Given the description of an element on the screen output the (x, y) to click on. 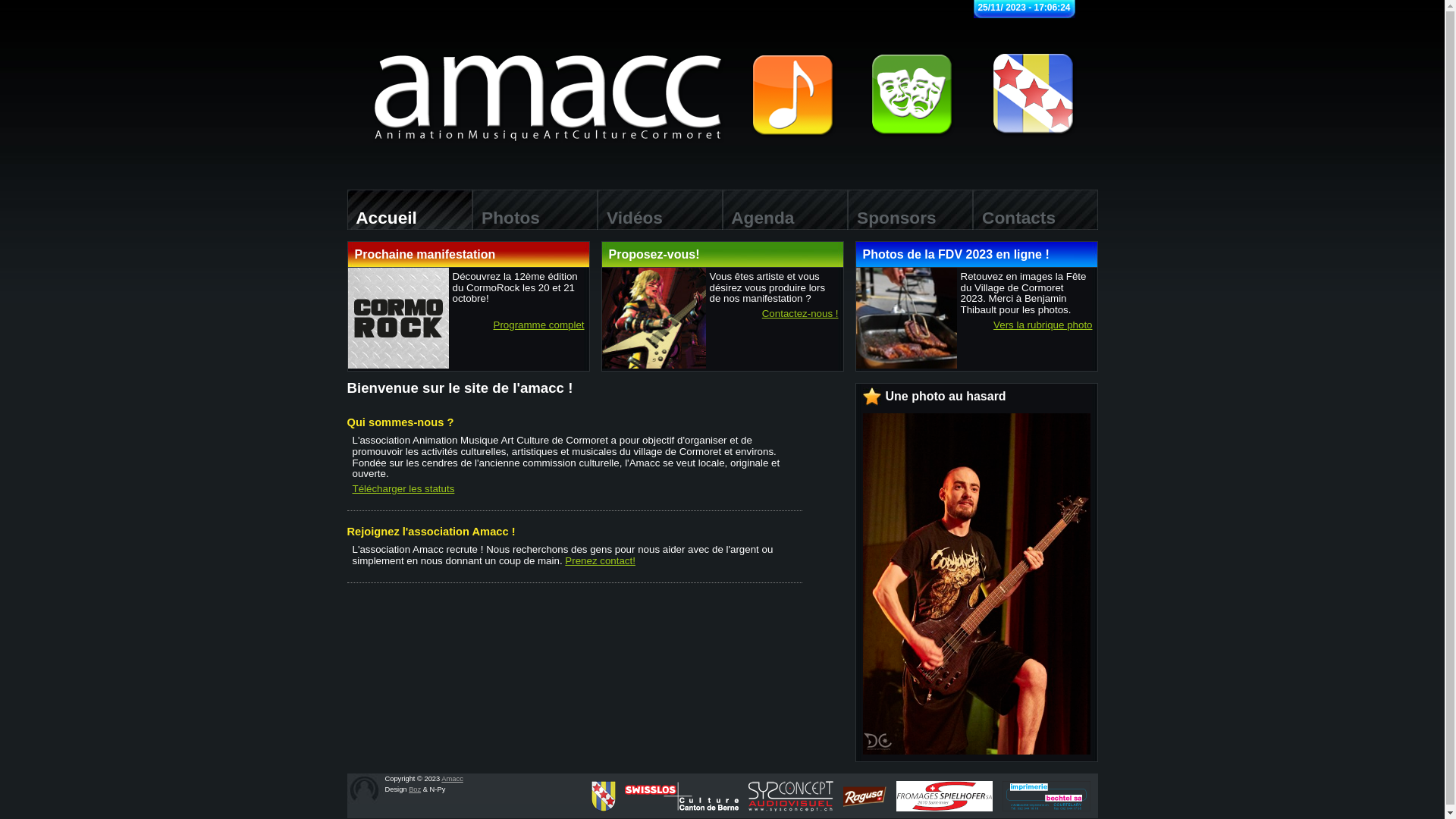
  Sponsors Element type: text (909, 209)
Boz Element type: text (414, 789)
Programme complet Element type: text (537, 325)
  Agenda Element type: text (784, 209)
Amacc Element type: text (452, 778)
Prenez contact! Element type: text (599, 560)
  Accueil Element type: text (409, 209)
Contactez-nous ! Element type: text (800, 314)
Vers la rubrique photo Element type: text (1042, 325)
  Photos Element type: text (533, 209)
  Contacts Element type: text (1034, 209)
